Given the description of an element on the screen output the (x, y) to click on. 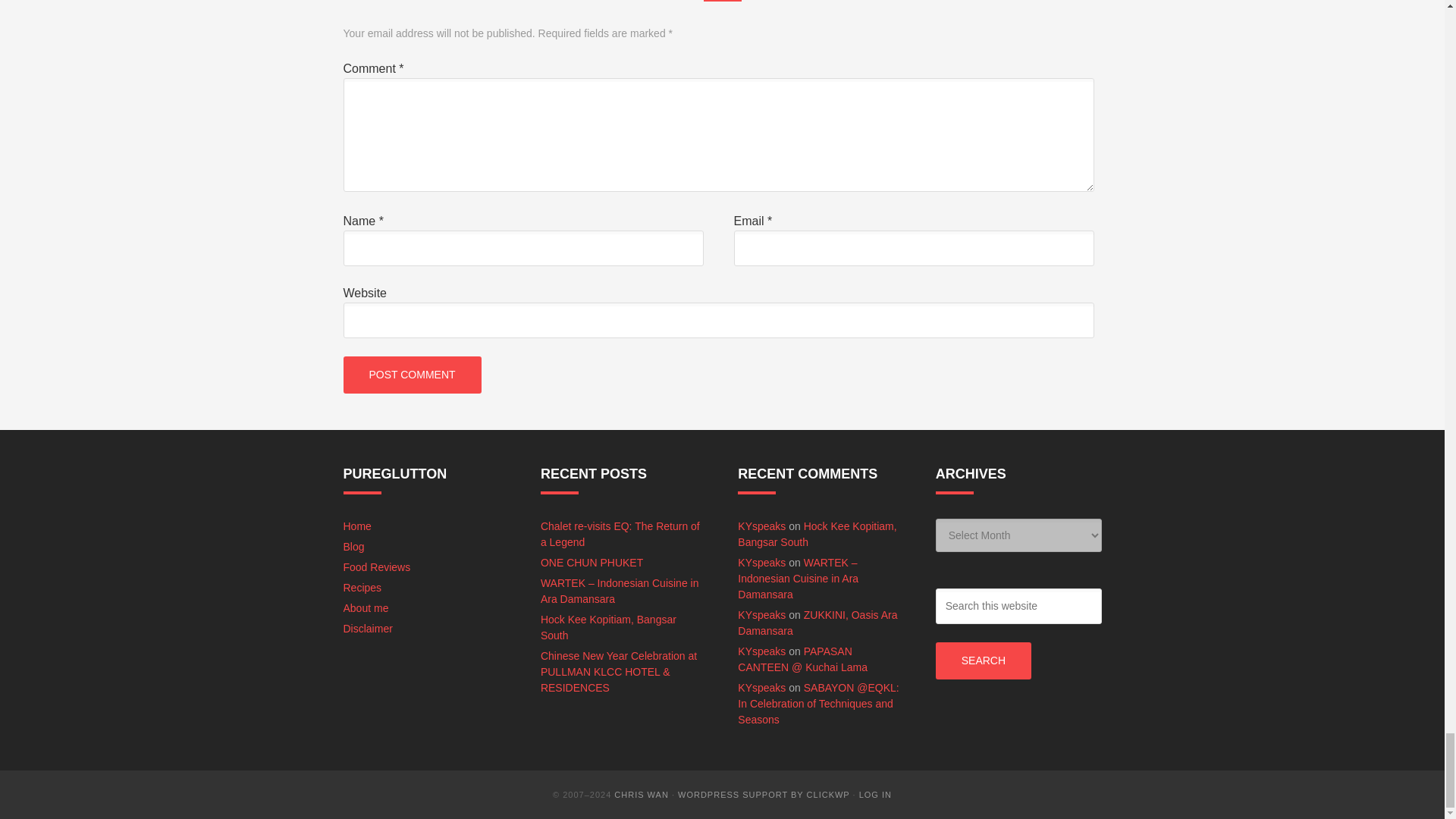
Search (983, 660)
Search (983, 660)
Post Comment (411, 374)
